Given the description of an element on the screen output the (x, y) to click on. 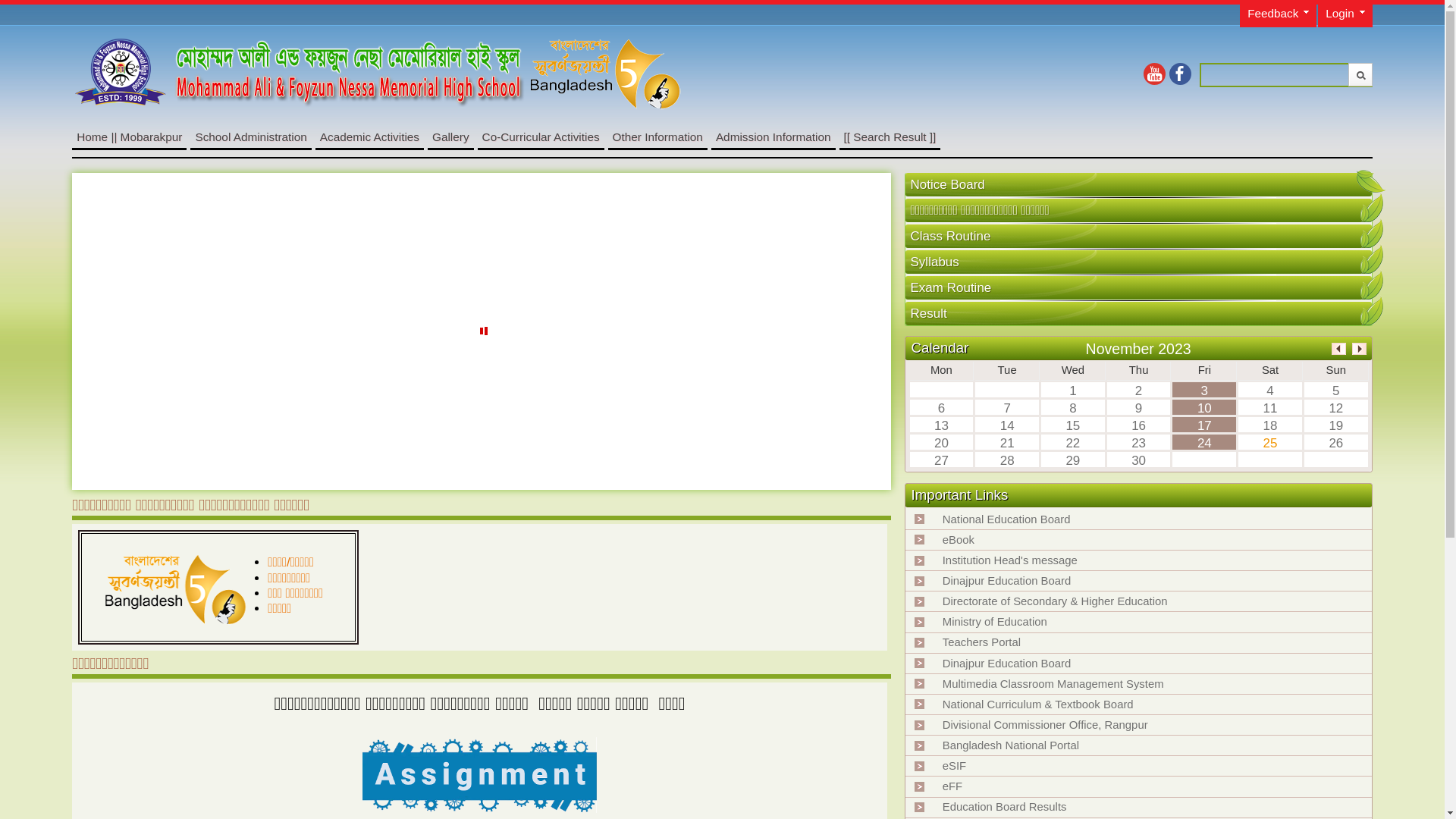
Admission Information Element type: text (773, 136)
eFF Element type: text (952, 786)
Feedback Element type: text (1277, 14)
Submit Element type: text (1360, 74)
  Element type: text (1371, 258)
National Education Board Element type: text (1006, 519)
School Administration Element type: text (250, 136)
Directorate of Secondary & Higher Education Element type: text (1054, 601)
Institution Head's message Element type: text (1009, 560)
Bangladesh National Portal Element type: text (1010, 745)
  Element type: text (1367, 184)
Teachers Portal Element type: text (981, 642)
  Element type: text (1371, 284)
  Element type: text (1371, 206)
Multimedia Classroom Management System Element type: text (1053, 683)
Ministry of Education Element type: text (994, 621)
Dinajpur Education Board Element type: text (1006, 580)
[[ Search Result ]] Element type: text (890, 136)
  Element type: text (1371, 232)
Academic Activities Element type: text (369, 136)
Dinajpur Education Board Element type: text (1006, 663)
  Element type: text (1371, 309)
Home || Mobarakpur Element type: text (129, 136)
Divisional Commissioner Office, Rangpur Element type: text (1045, 724)
Gallery Element type: text (450, 136)
Other Information Element type: text (657, 136)
eBook Element type: text (958, 539)
National Curriculum & Textbook Board Element type: text (1037, 704)
Education Board Results Element type: text (1004, 806)
eSIF Element type: text (954, 765)
Login Element type: text (1344, 14)
Co-Curricular Activities Element type: text (540, 136)
